Given the description of an element on the screen output the (x, y) to click on. 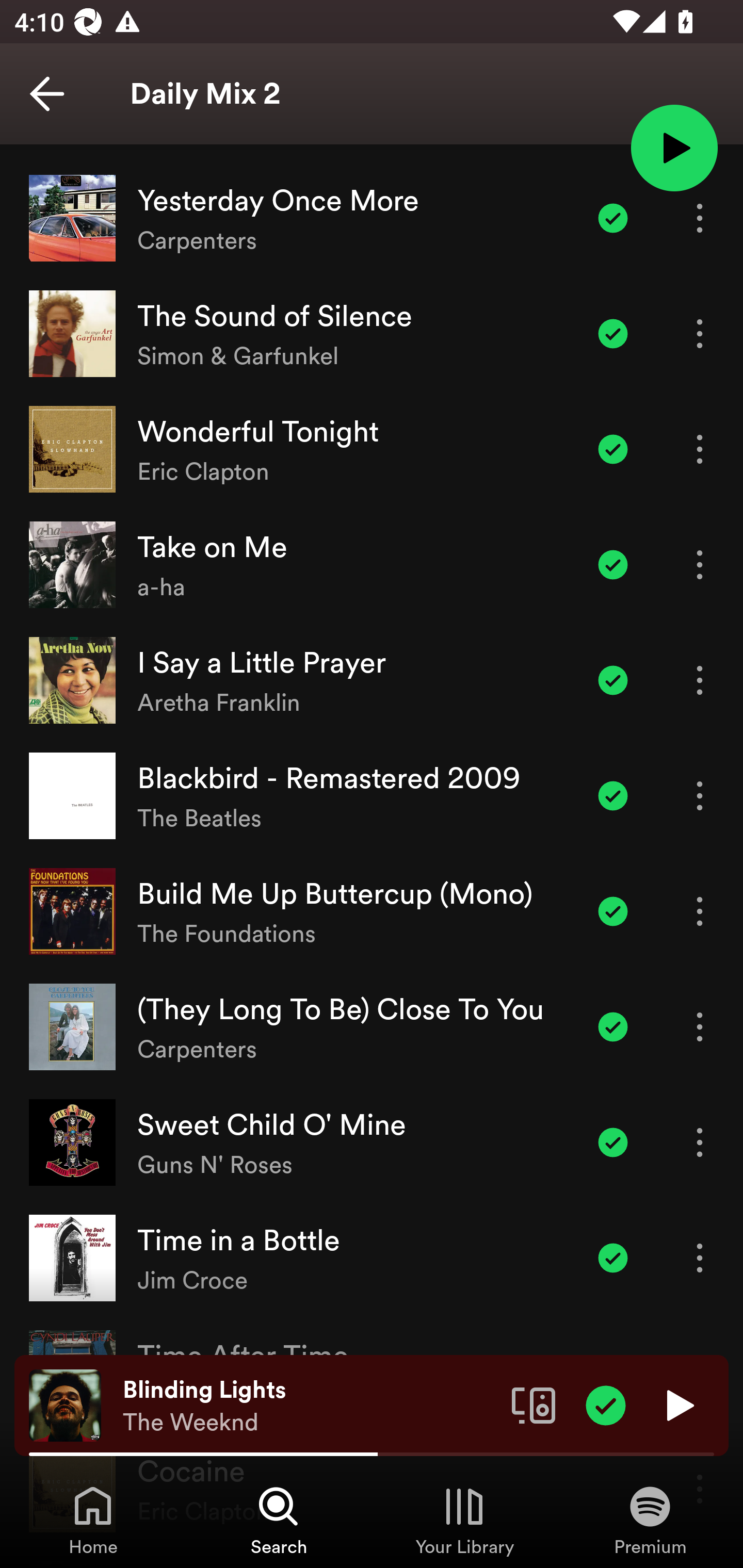
Back (46, 93)
Play playlist (674, 147)
Item added (612, 218)
More options for song Yesterday Once More (699, 218)
Item added (612, 333)
More options for song The Sound of Silence (699, 333)
Item added (612, 449)
More options for song Wonderful Tonight (699, 449)
Item added (612, 565)
More options for song Take on Me (699, 565)
Item added (612, 680)
More options for song I Say a Little Prayer (699, 680)
Item added (612, 795)
More options for song Blackbird - Remastered 2009 (699, 795)
Item added (612, 911)
More options for song Build Me Up Buttercup (Mono) (699, 911)
Item added (612, 1026)
Item added (612, 1142)
More options for song Sweet Child O' Mine (699, 1142)
Item added (612, 1258)
More options for song Time in a Bottle (699, 1258)
Blinding Lights The Weeknd (309, 1405)
The cover art of the currently playing track (64, 1404)
Connect to a device. Opens the devices menu (533, 1404)
Item added (605, 1404)
Play (677, 1404)
Home, Tab 1 of 4 Home Home (92, 1519)
Search, Tab 2 of 4 Search Search (278, 1519)
Your Library, Tab 3 of 4 Your Library Your Library (464, 1519)
Premium, Tab 4 of 4 Premium Premium (650, 1519)
